Given the description of an element on the screen output the (x, y) to click on. 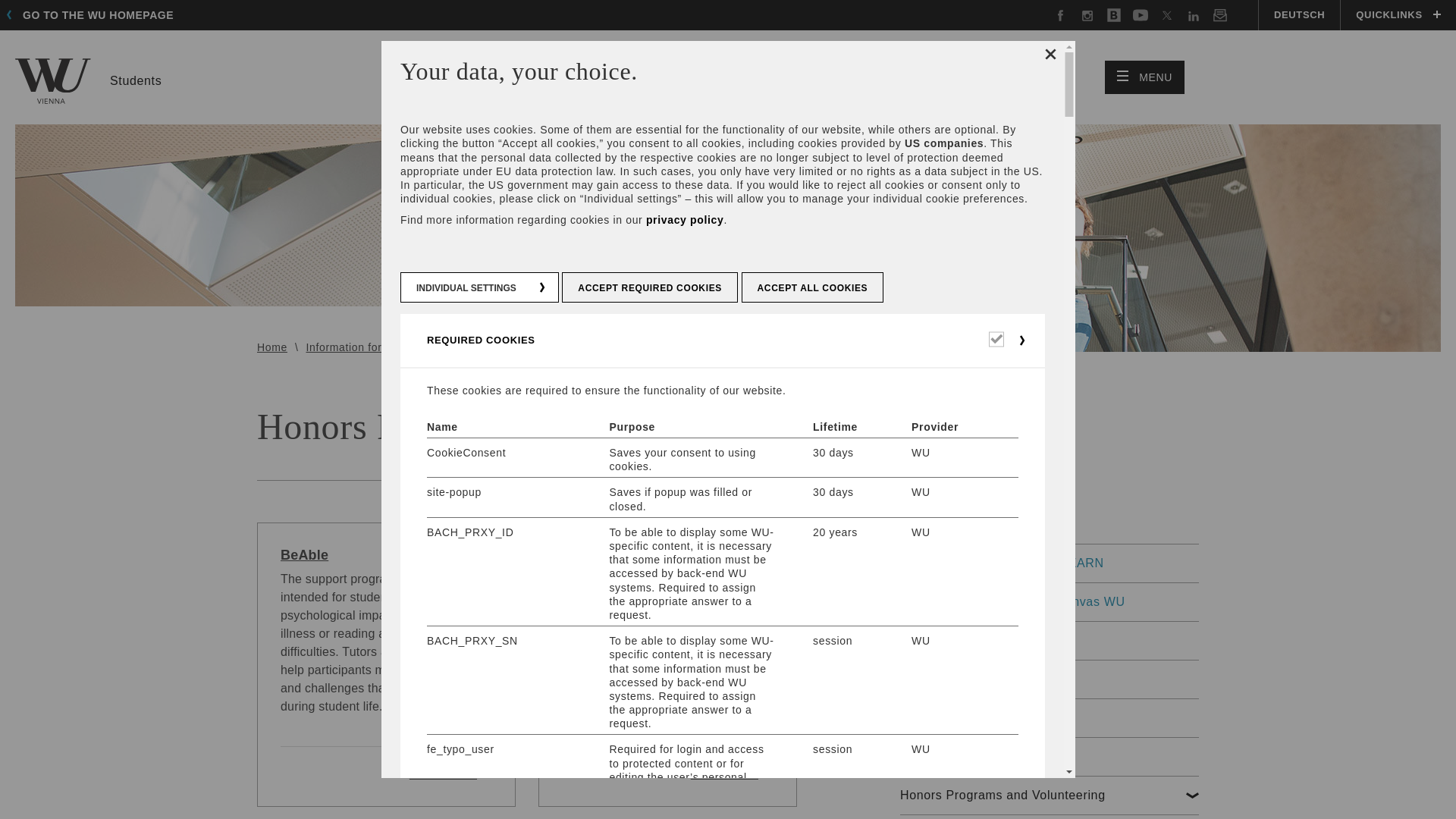
Students (1145, 77)
GO TO THE WU HOMEPAGE (87, 81)
DEUTSCH (94, 15)
on (1298, 15)
